Given the description of an element on the screen output the (x, y) to click on. 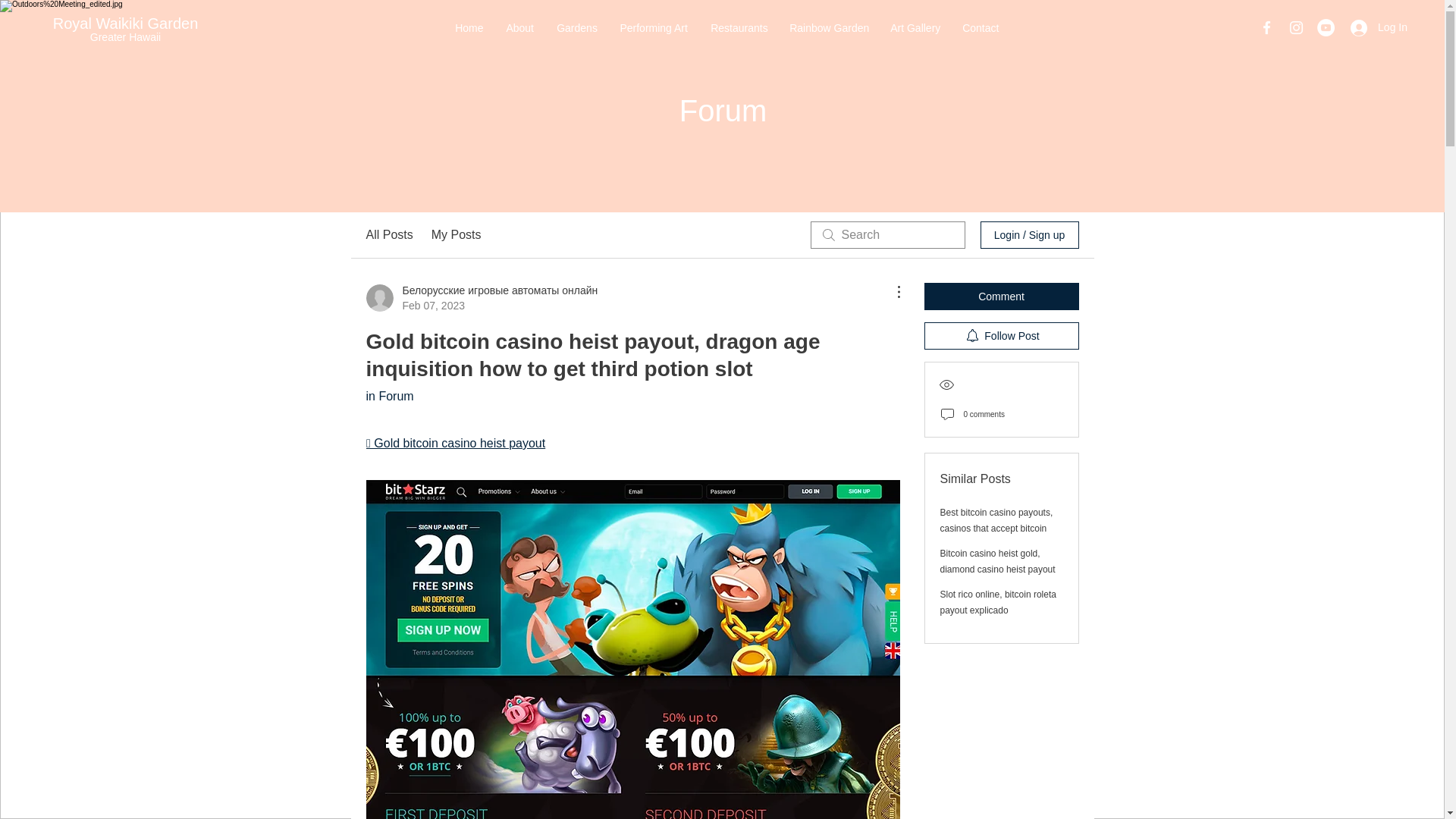
All Posts (388, 235)
Follow Post (1000, 335)
Performing Art (653, 27)
Slot rico online, bitcoin roleta payout explicado (998, 601)
Best bitcoin casino payouts, casinos that accept bitcoin (996, 519)
About (519, 27)
Art Gallery (914, 27)
Comment (1000, 296)
Bitcoin casino heist gold, diamond casino heist payout (997, 560)
My Posts (455, 235)
